Given the description of an element on the screen output the (x, y) to click on. 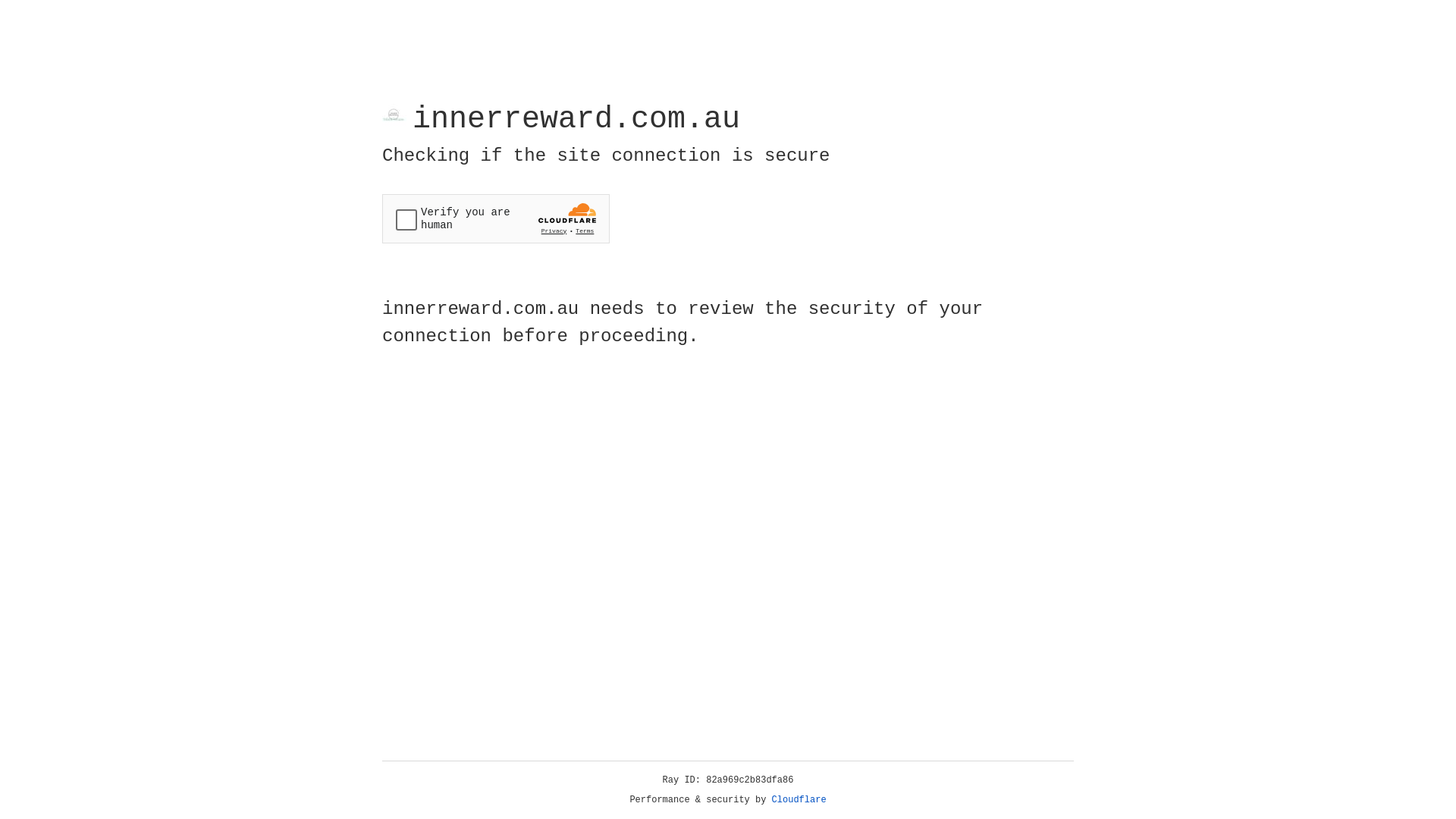
Cloudflare Element type: text (798, 799)
Widget containing a Cloudflare security challenge Element type: hover (495, 218)
